Given the description of an element on the screen output the (x, y) to click on. 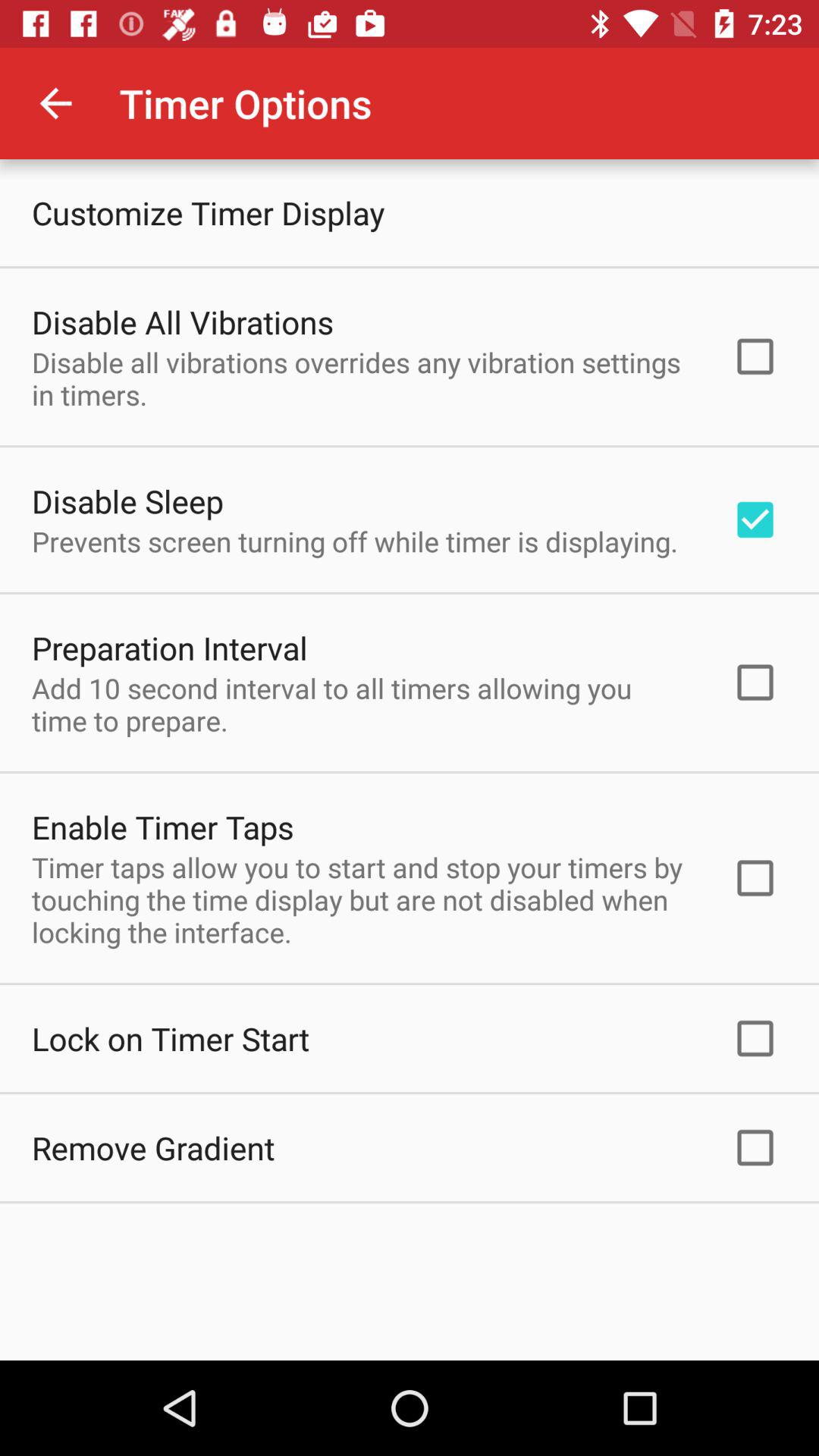
scroll to the remove gradient icon (152, 1147)
